Given the description of an element on the screen output the (x, y) to click on. 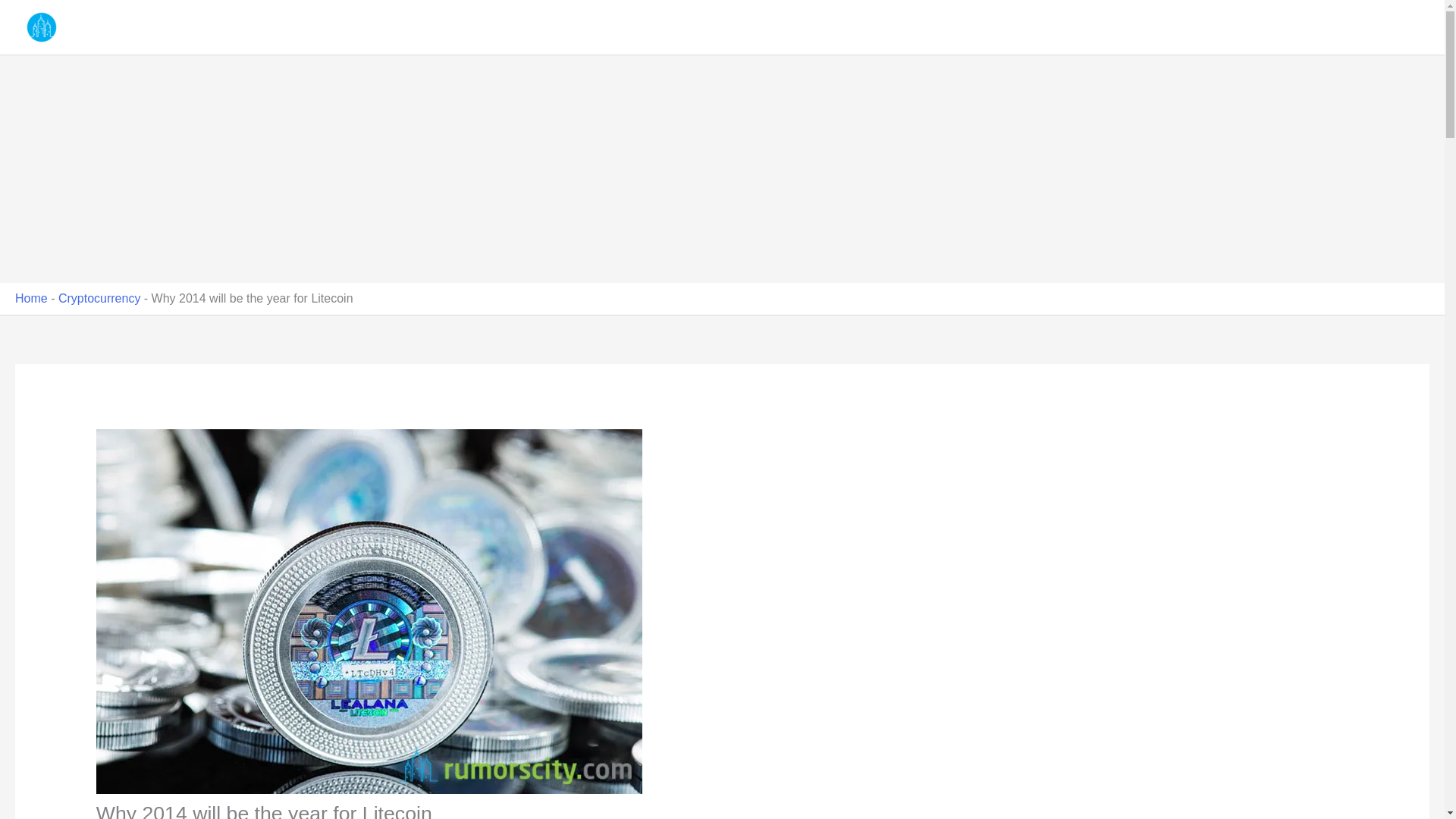
Cryptocurrency (98, 297)
Games (1261, 27)
Home (31, 297)
Life (1095, 27)
News (1141, 27)
Others (1199, 27)
Culture (1045, 27)
Rumors City (111, 26)
Video (1370, 27)
Tech (1317, 27)
Search (1415, 27)
Animals (984, 27)
